Given the description of an element on the screen output the (x, y) to click on. 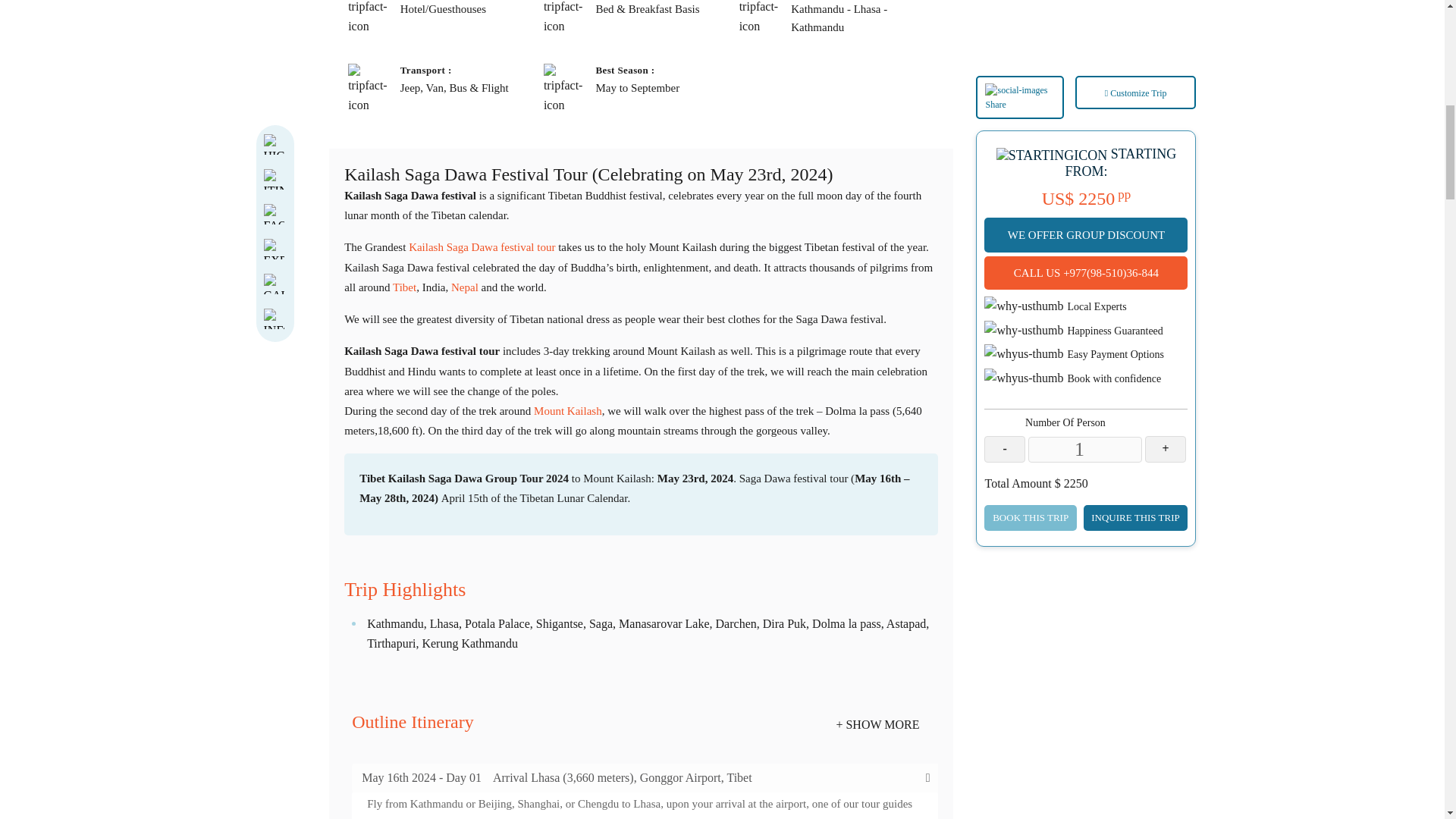
1 (1084, 130)
